Given the description of an element on the screen output the (x, y) to click on. 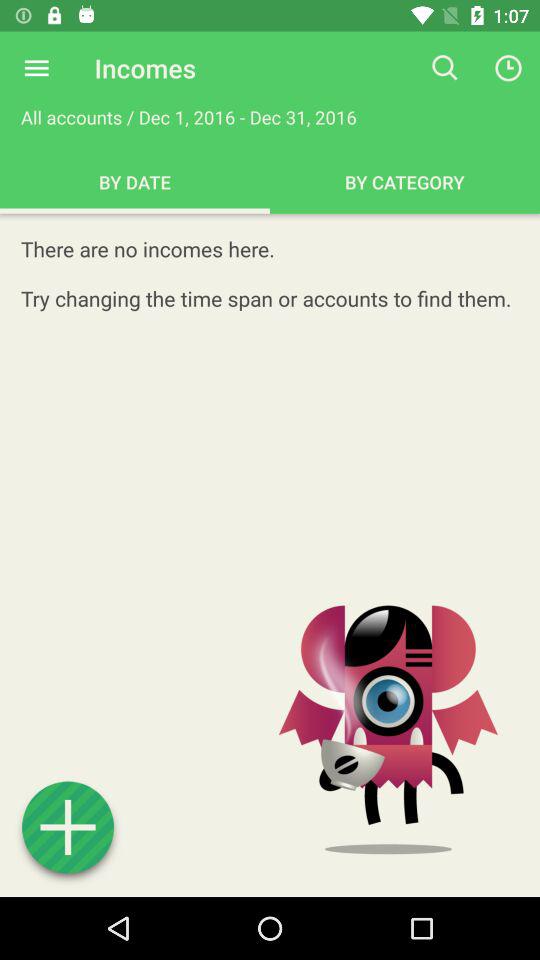
click item next to the incomes icon (36, 68)
